Given the description of an element on the screen output the (x, y) to click on. 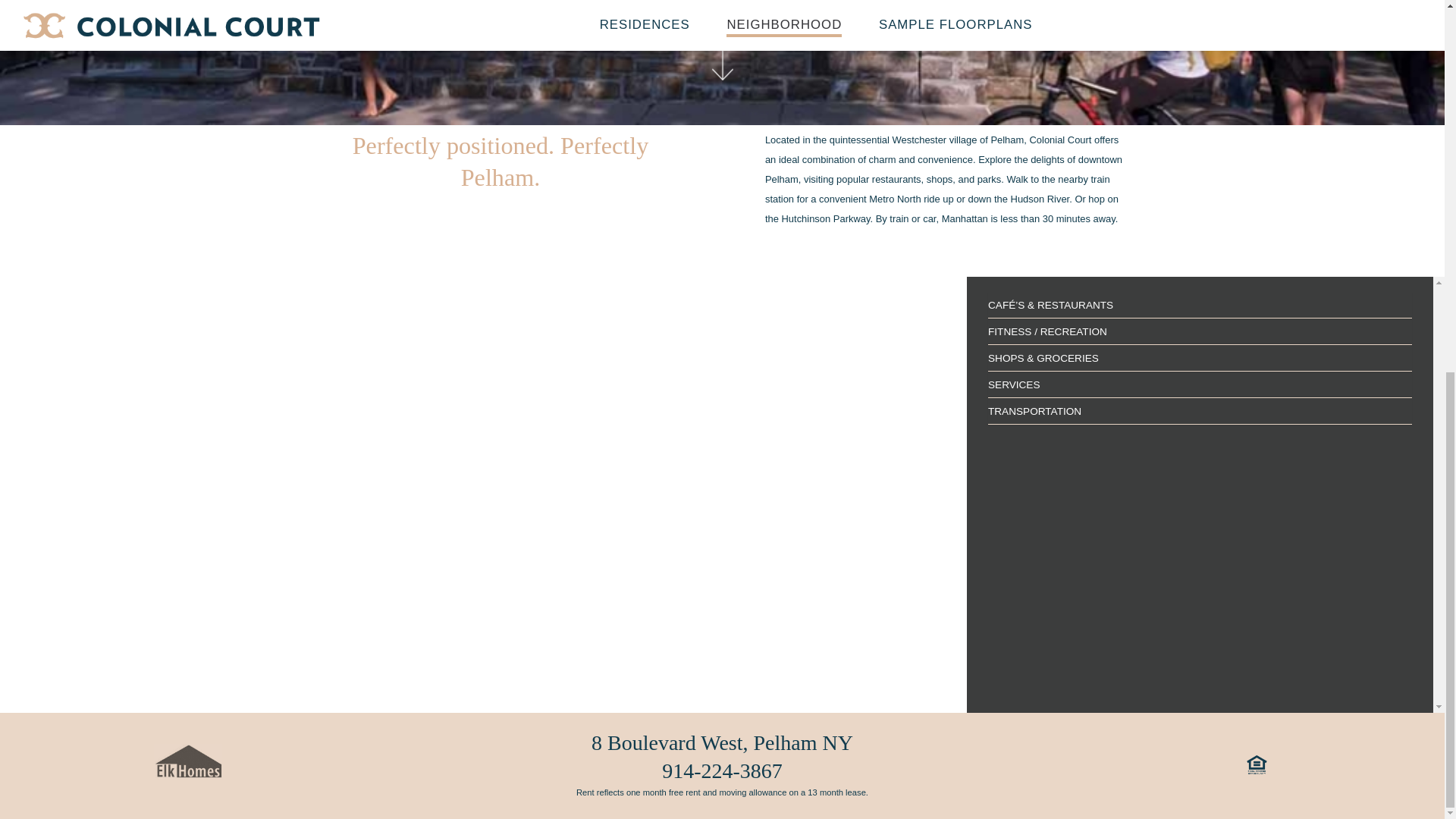
8 Boulevard West, Pelham NY (722, 742)
